Given the description of an element on the screen output the (x, y) to click on. 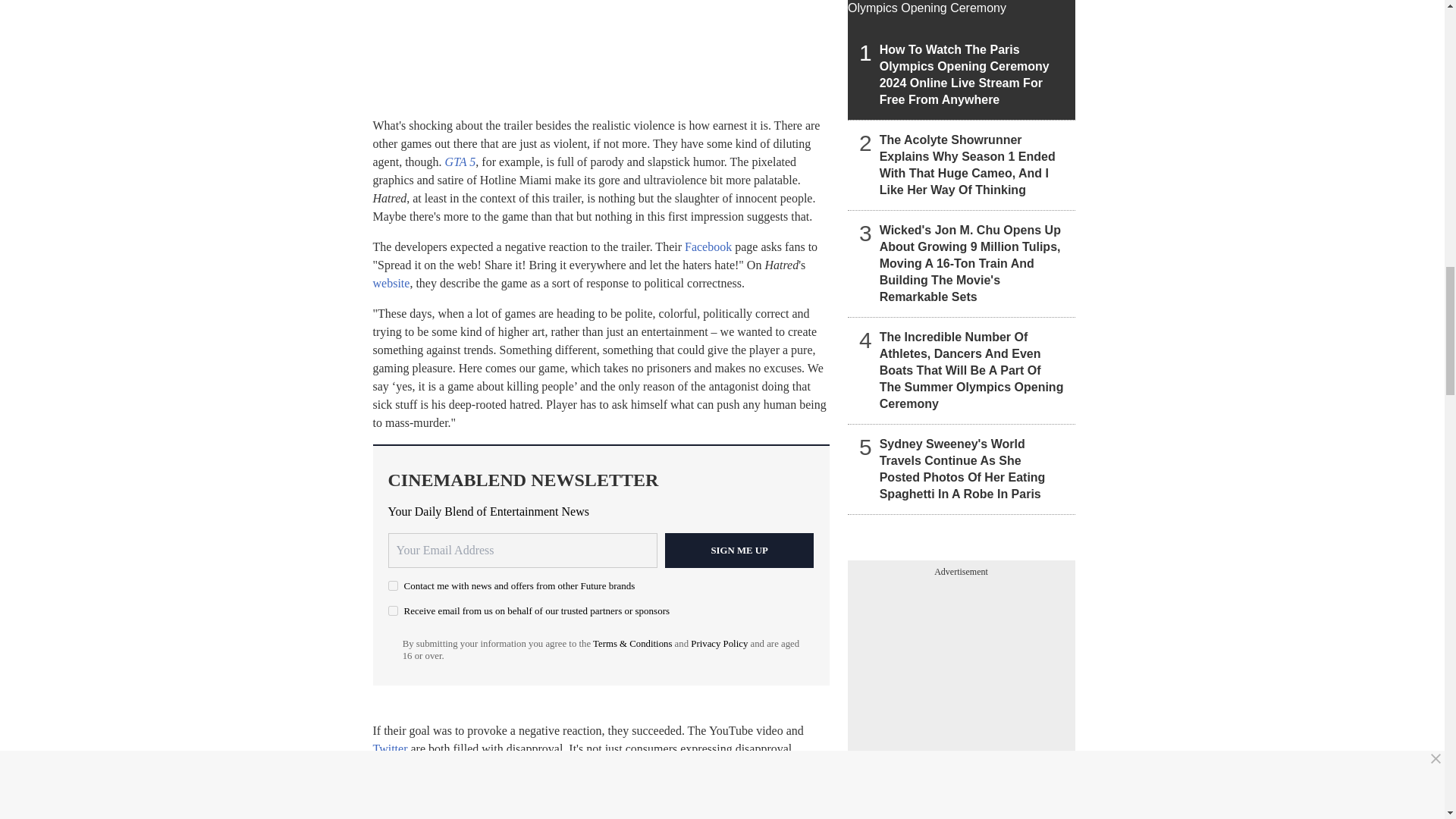
on (392, 585)
on (392, 610)
Sign me up (739, 550)
